Given the description of an element on the screen output the (x, y) to click on. 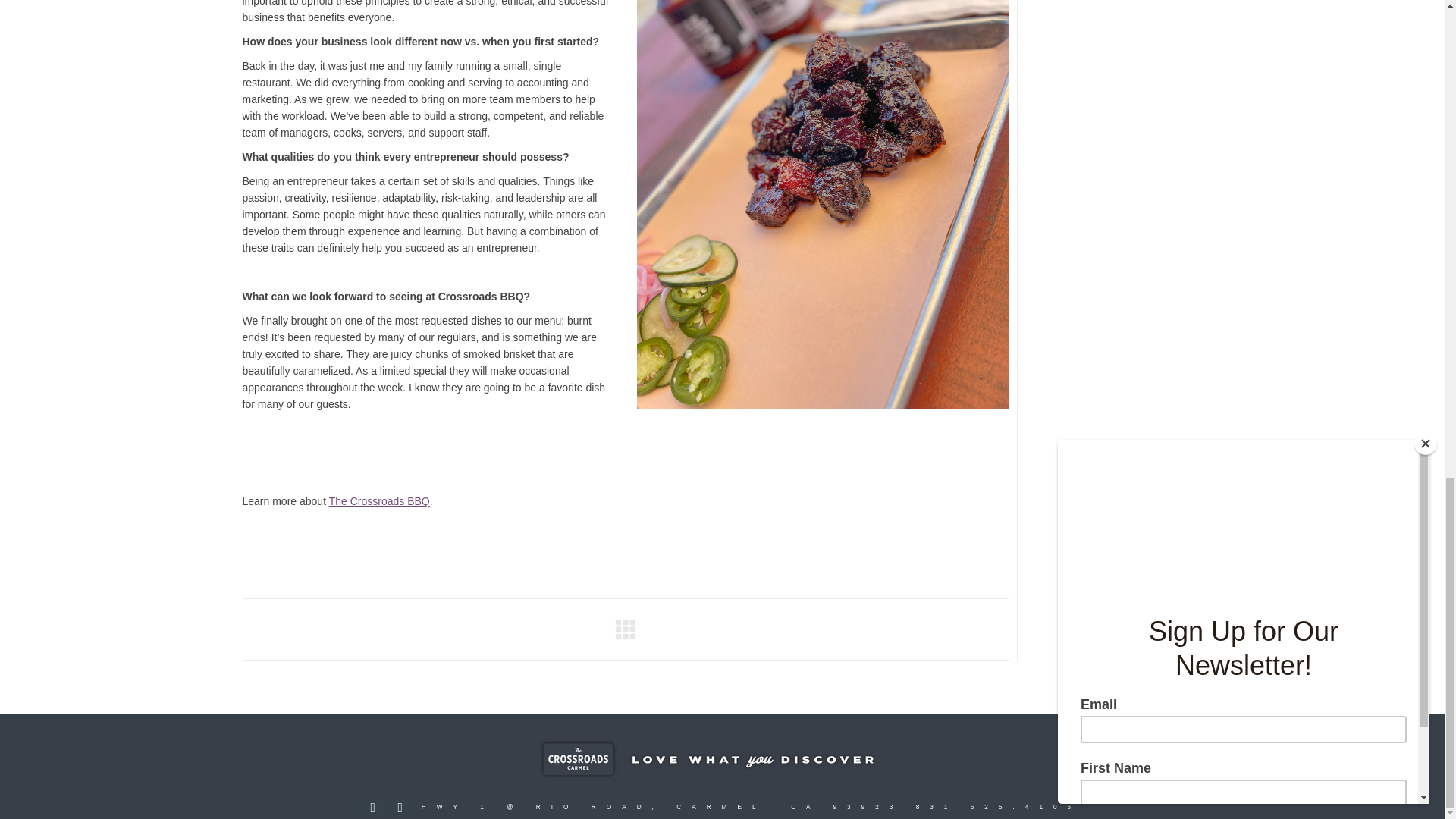
Facebook (372, 807)
